Given the description of an element on the screen output the (x, y) to click on. 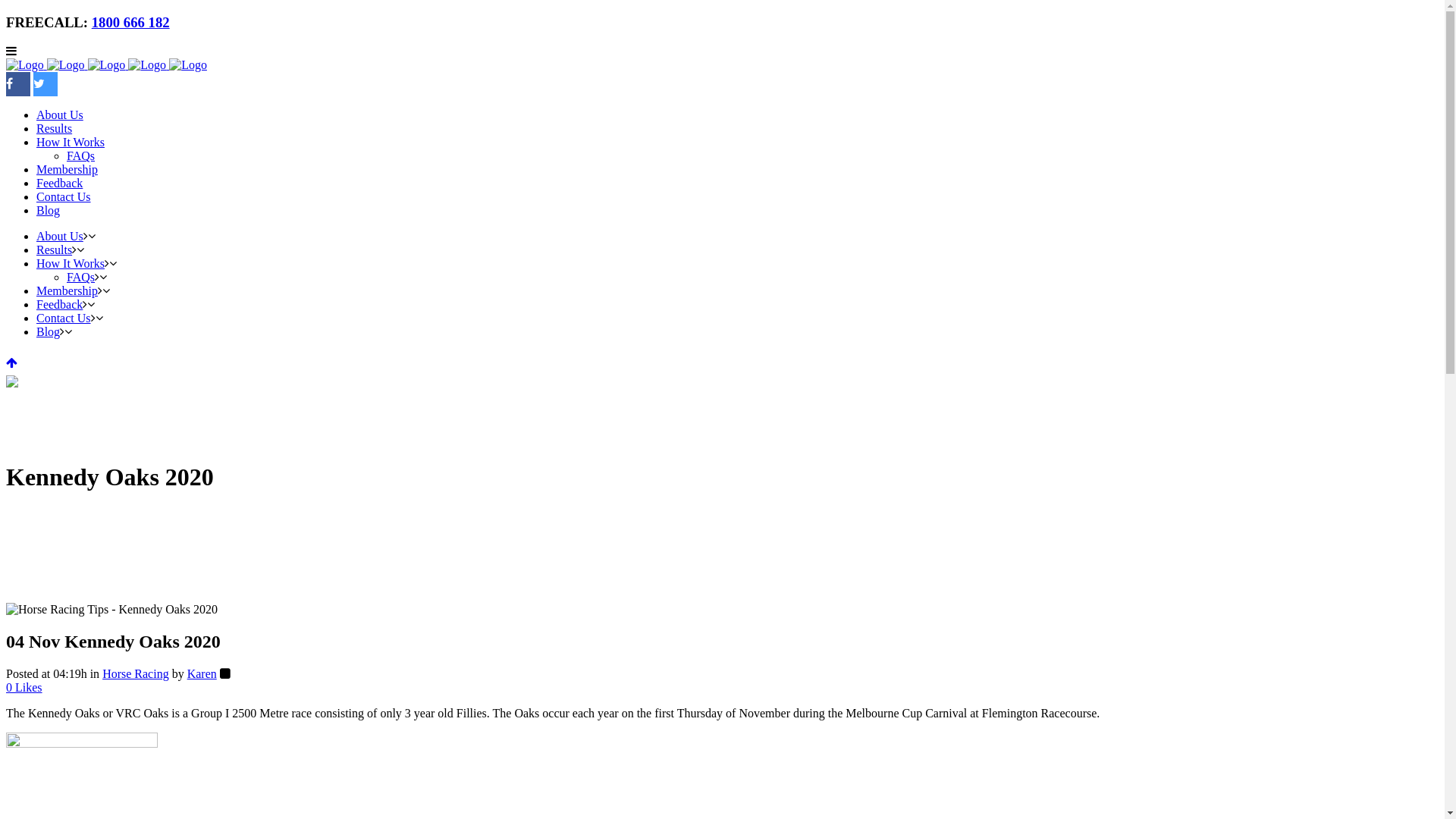
Karen Element type: text (201, 673)
Feedback Element type: text (59, 182)
Blog Element type: text (47, 331)
1800 666 182 Element type: text (130, 22)
Feedback Element type: text (59, 304)
Contact Us Element type: text (63, 317)
Results Element type: text (54, 249)
Blog Element type: text (47, 209)
How It Works Element type: text (70, 263)
Membership Element type: text (66, 290)
How It Works Element type: text (70, 141)
About Us Element type: text (59, 114)
About Us Element type: text (59, 235)
Results Element type: text (54, 128)
0 Likes Element type: text (24, 686)
Contact Us Element type: text (63, 196)
Horse Racing Element type: text (135, 673)
FAQs Element type: text (80, 276)
Membership Element type: text (66, 169)
FAQs Element type: text (80, 155)
